Given the description of an element on the screen output the (x, y) to click on. 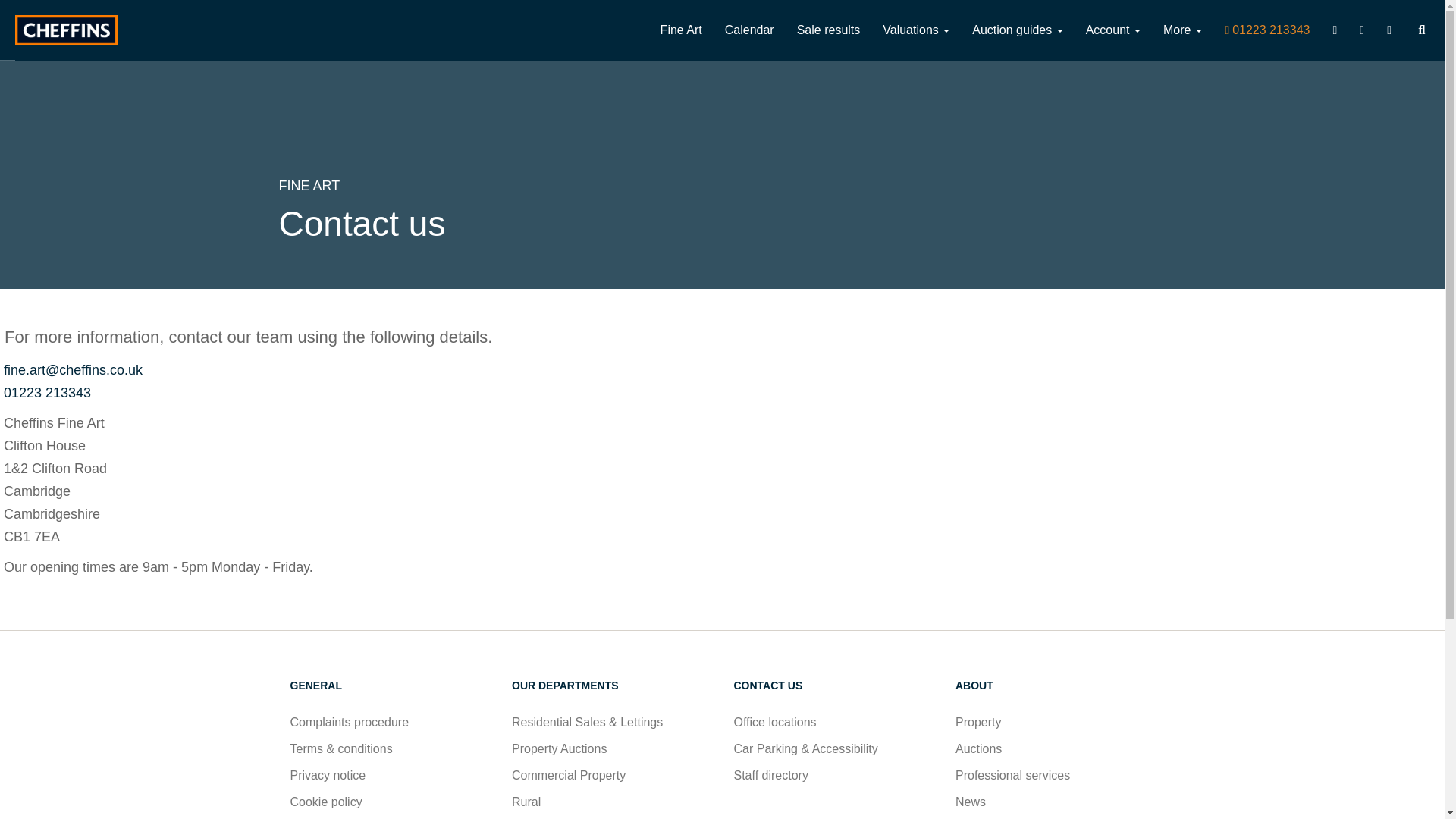
Account (1112, 30)
Auction guides (1017, 30)
Privacy notice (327, 775)
 01223 213343 (45, 392)
01223 213343 (1267, 30)
Calendar (749, 30)
Sale results (829, 30)
More (1181, 30)
Fine Art (681, 30)
Cheffins Professional Services (1012, 775)
